Given the description of an element on the screen output the (x, y) to click on. 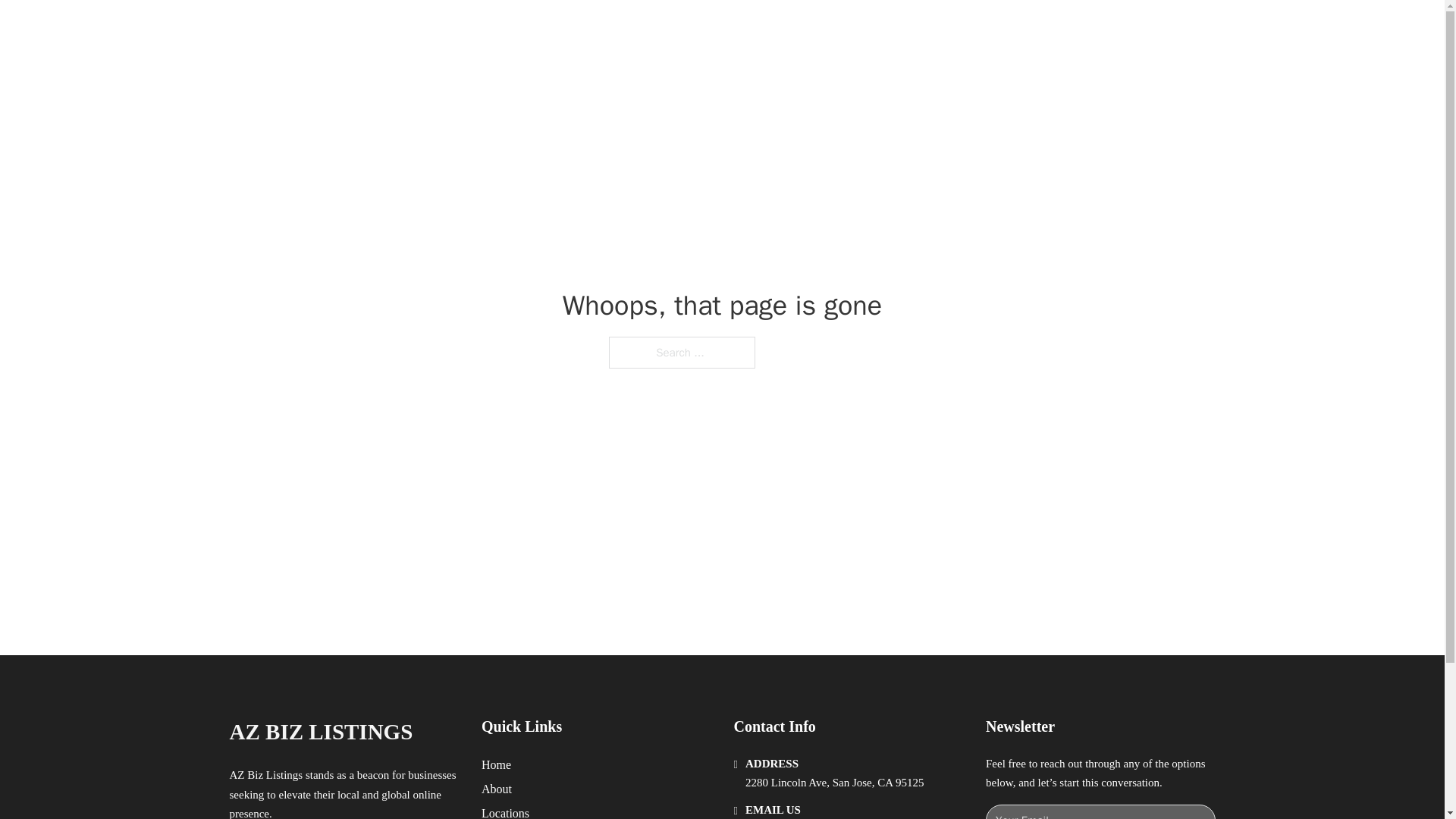
LOCATIONS (990, 29)
AZ BIZ LISTINGS (320, 732)
Locations (505, 811)
AZ BIZ LISTINGS (393, 28)
Home (496, 764)
HOME (919, 29)
About (496, 788)
